Given the description of an element on the screen output the (x, y) to click on. 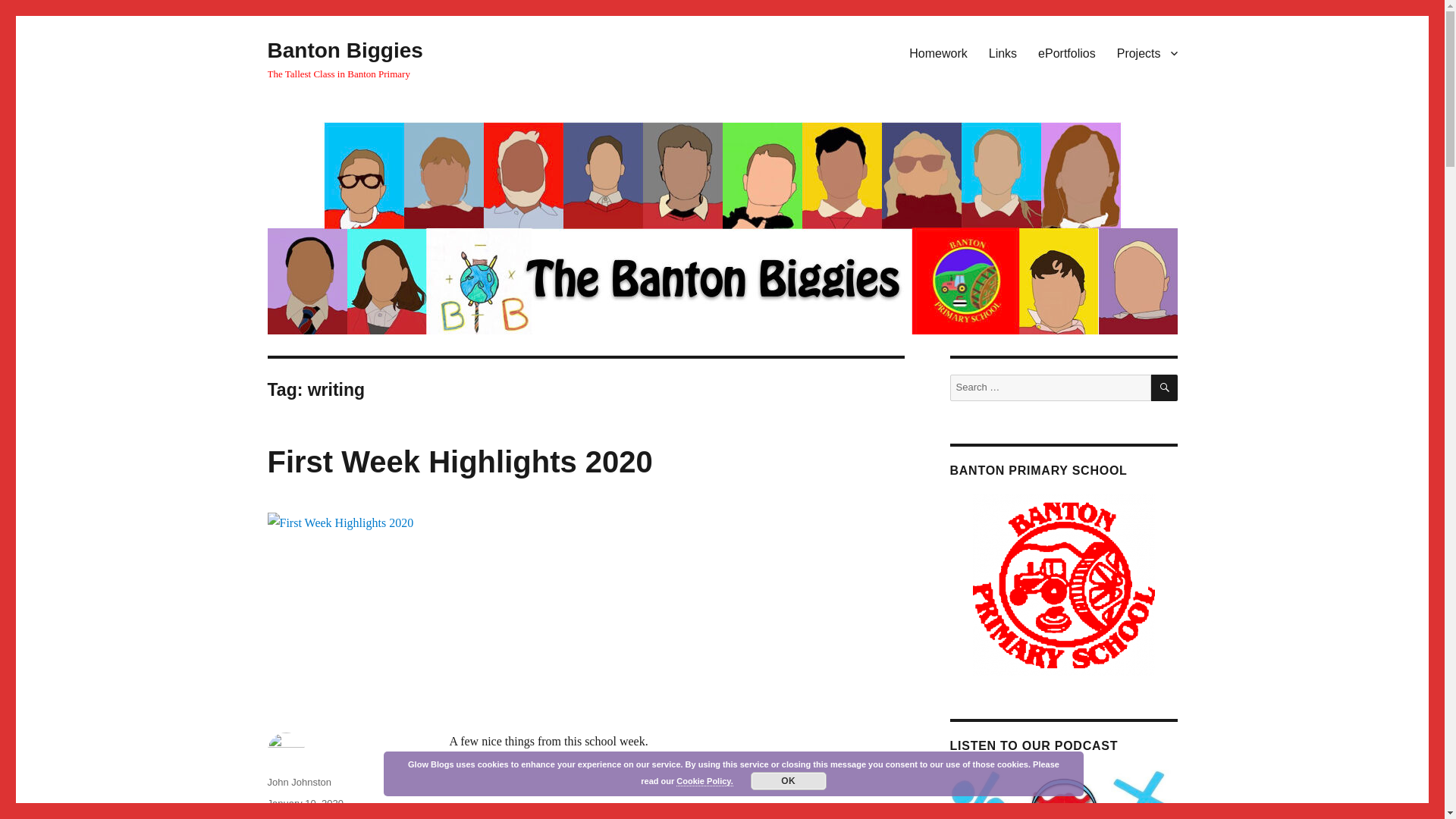
Links (1002, 52)
Banton Biggies (344, 50)
First Week Highlights 2020 (459, 461)
Projects (1147, 52)
Homework (937, 52)
Projects (1147, 52)
John Johnston (298, 781)
Links (1002, 52)
ePortfolios (1066, 52)
ePortfolios (1066, 52)
